Given the description of an element on the screen output the (x, y) to click on. 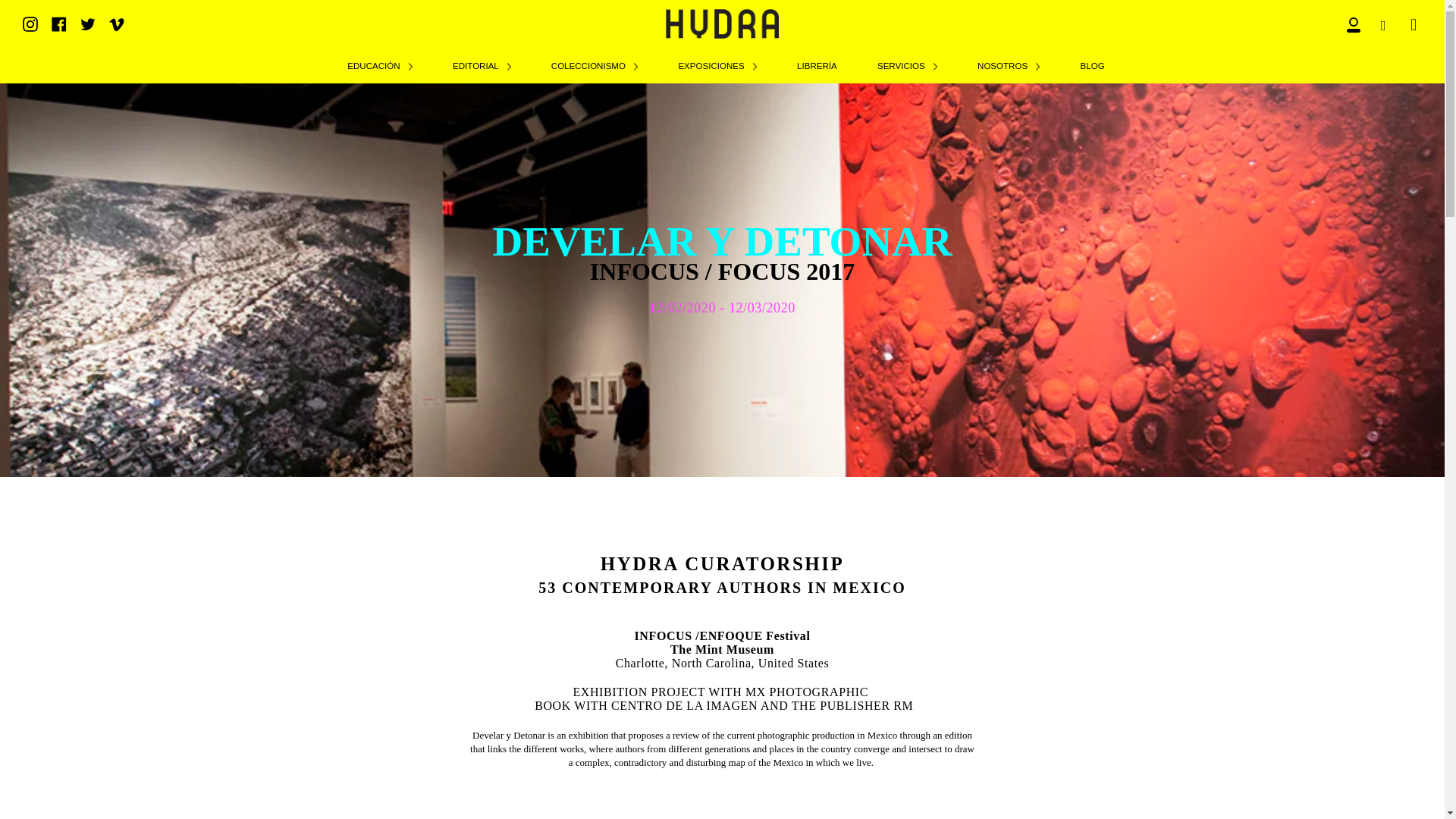
Facebook (58, 23)
EDITORIAL (481, 65)
Instagram (30, 23)
Vimeo (116, 23)
EXPOSICIONES (717, 65)
Twitter (88, 23)
COLECCIONISMO (594, 65)
